Given the description of an element on the screen output the (x, y) to click on. 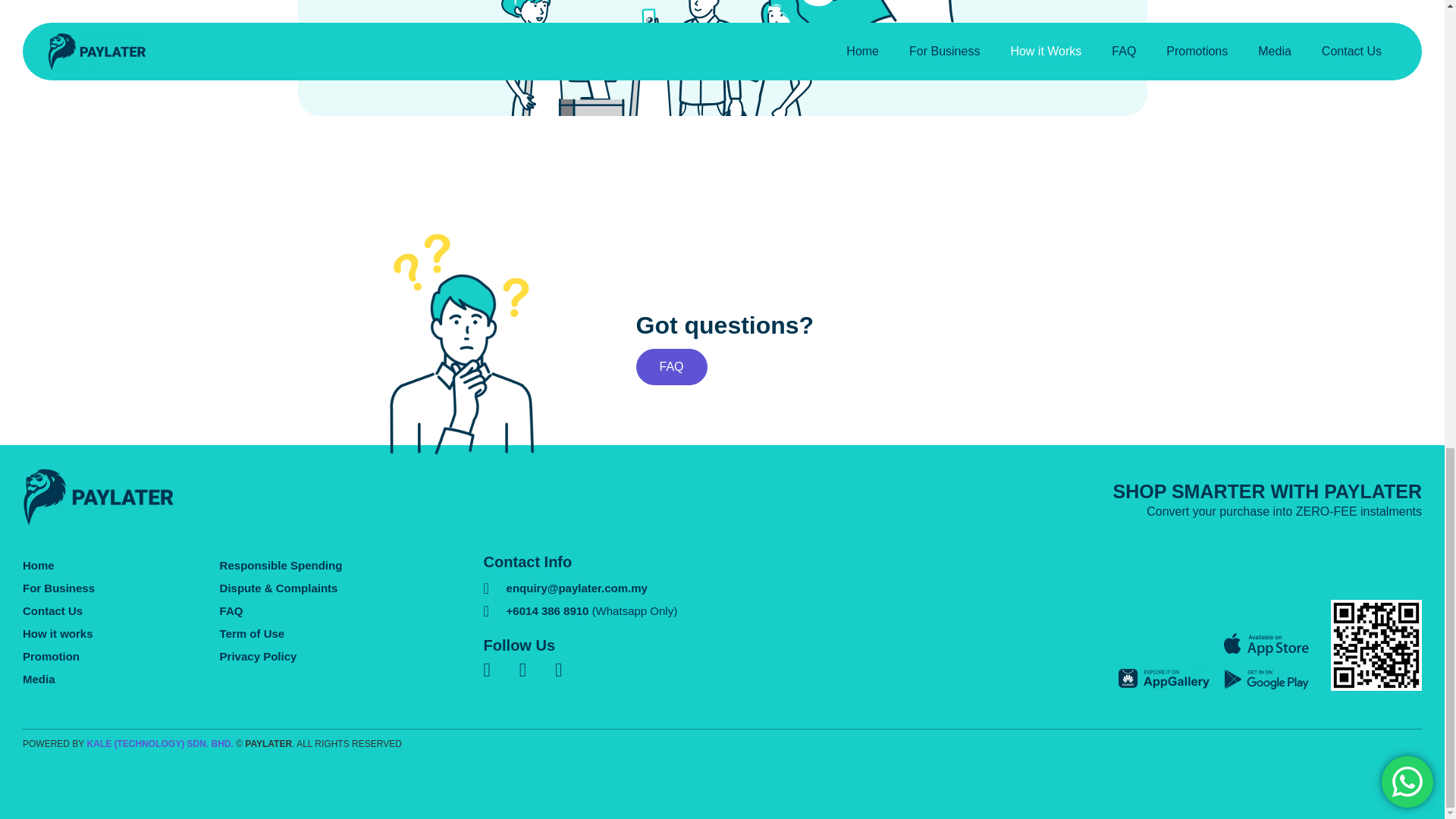
Media (121, 679)
FAQ (670, 366)
Home (121, 565)
How it works (121, 633)
Contact Us (121, 610)
For Business (121, 588)
Promotion (121, 656)
